Given the description of an element on the screen output the (x, y) to click on. 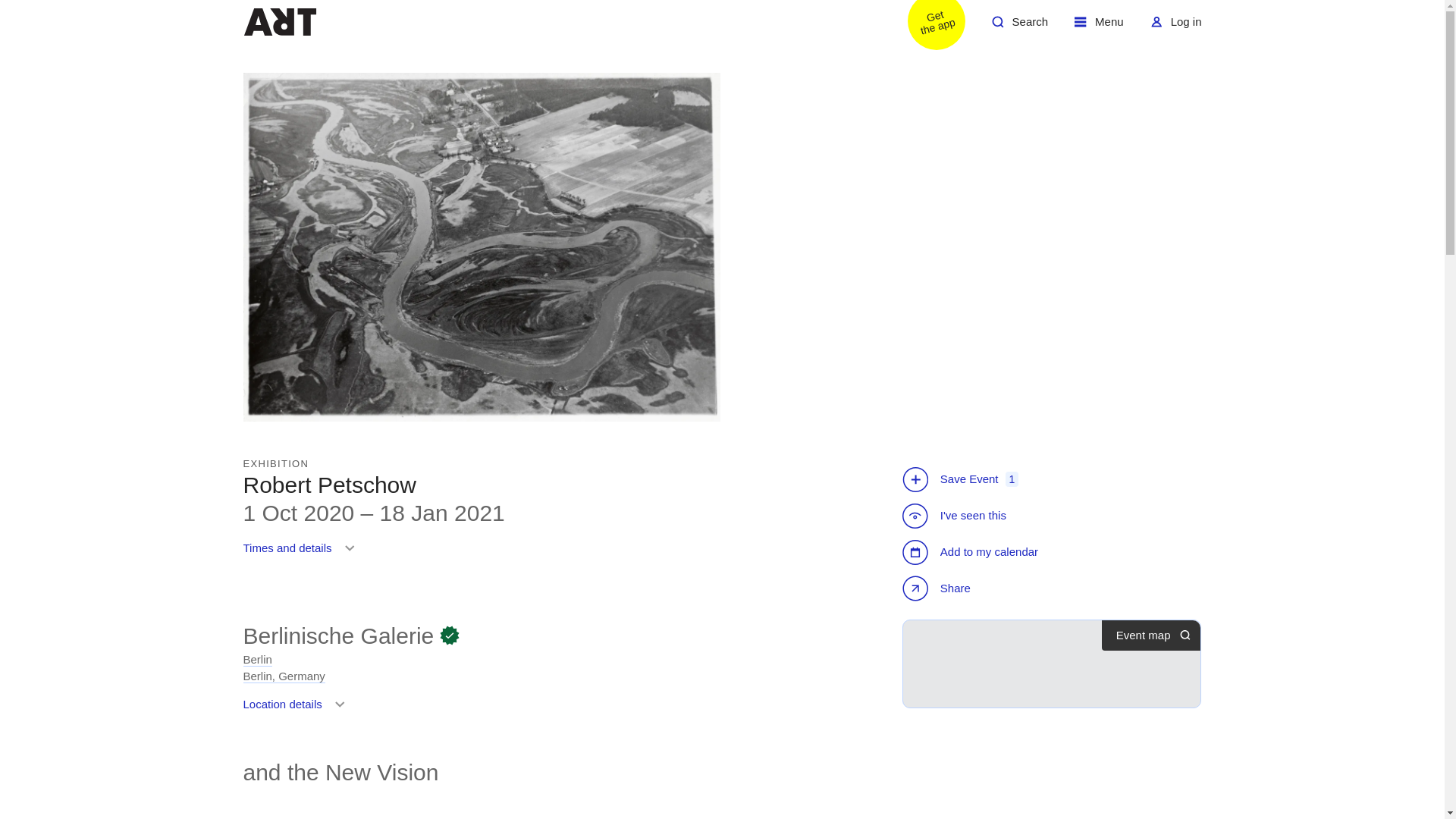
Add to my calendar (283, 667)
Welcome to ArtRabbit (302, 553)
Berlinische Galerie (972, 551)
Share (279, 22)
